Given the description of an element on the screen output the (x, y) to click on. 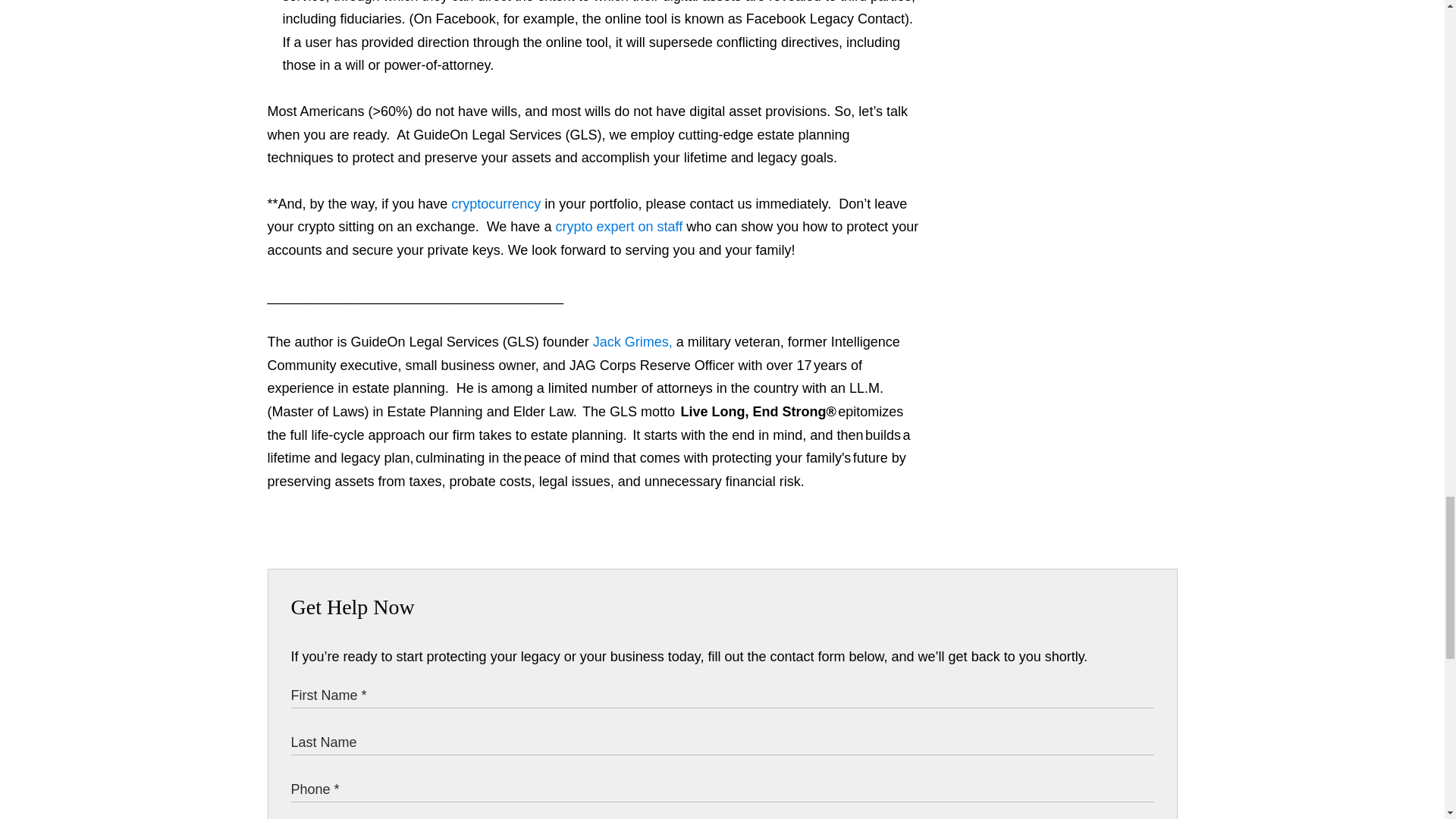
crypto expert on staff (618, 226)
Jack Grimes, (632, 341)
cryptocurrency (495, 203)
